Given the description of an element on the screen output the (x, y) to click on. 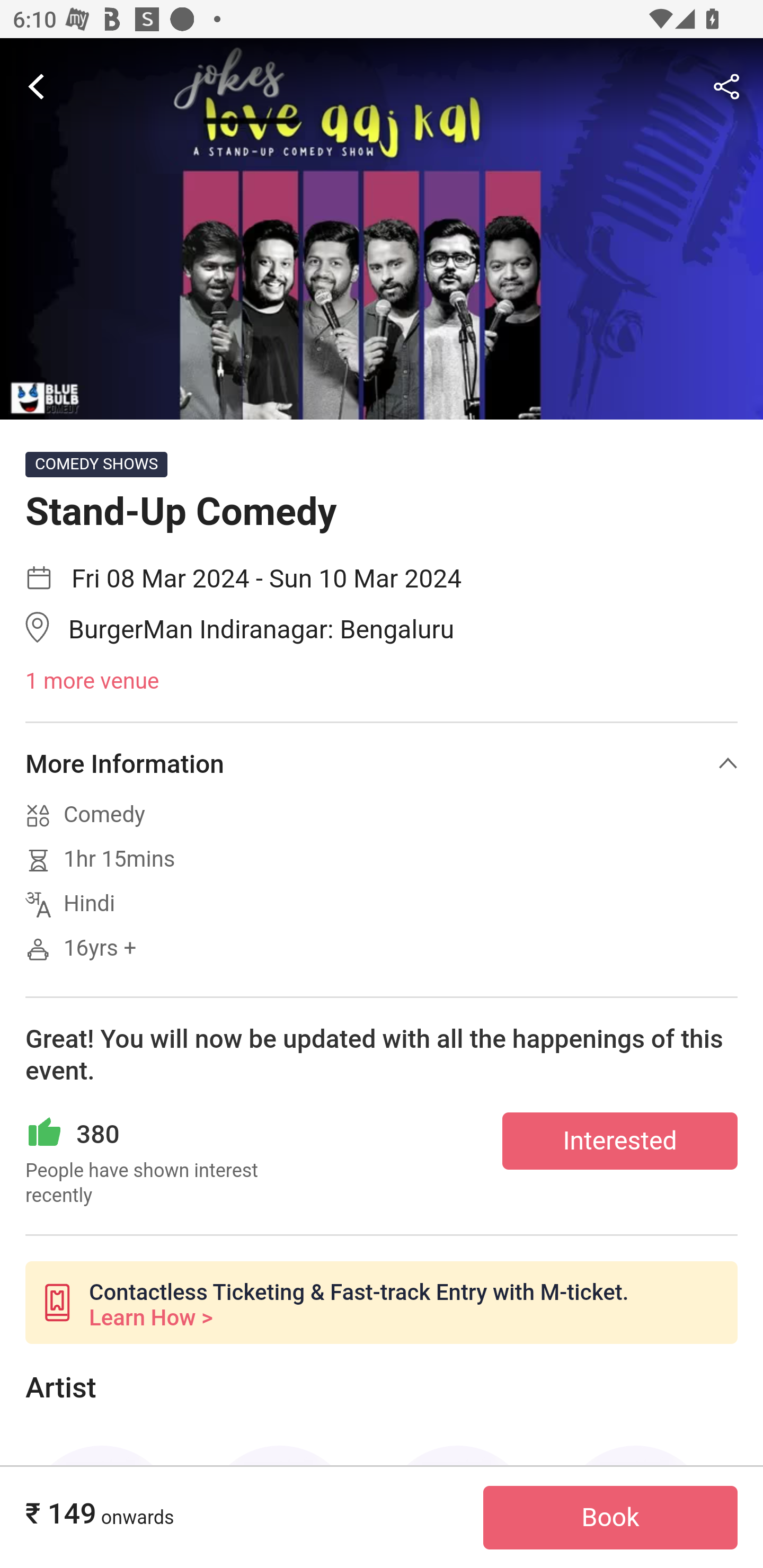
1 more venue (381, 681)
More Information (381, 763)
Interested (619, 1139)
Learn How > (150, 1317)
Book (609, 1517)
